Given the description of an element on the screen output the (x, y) to click on. 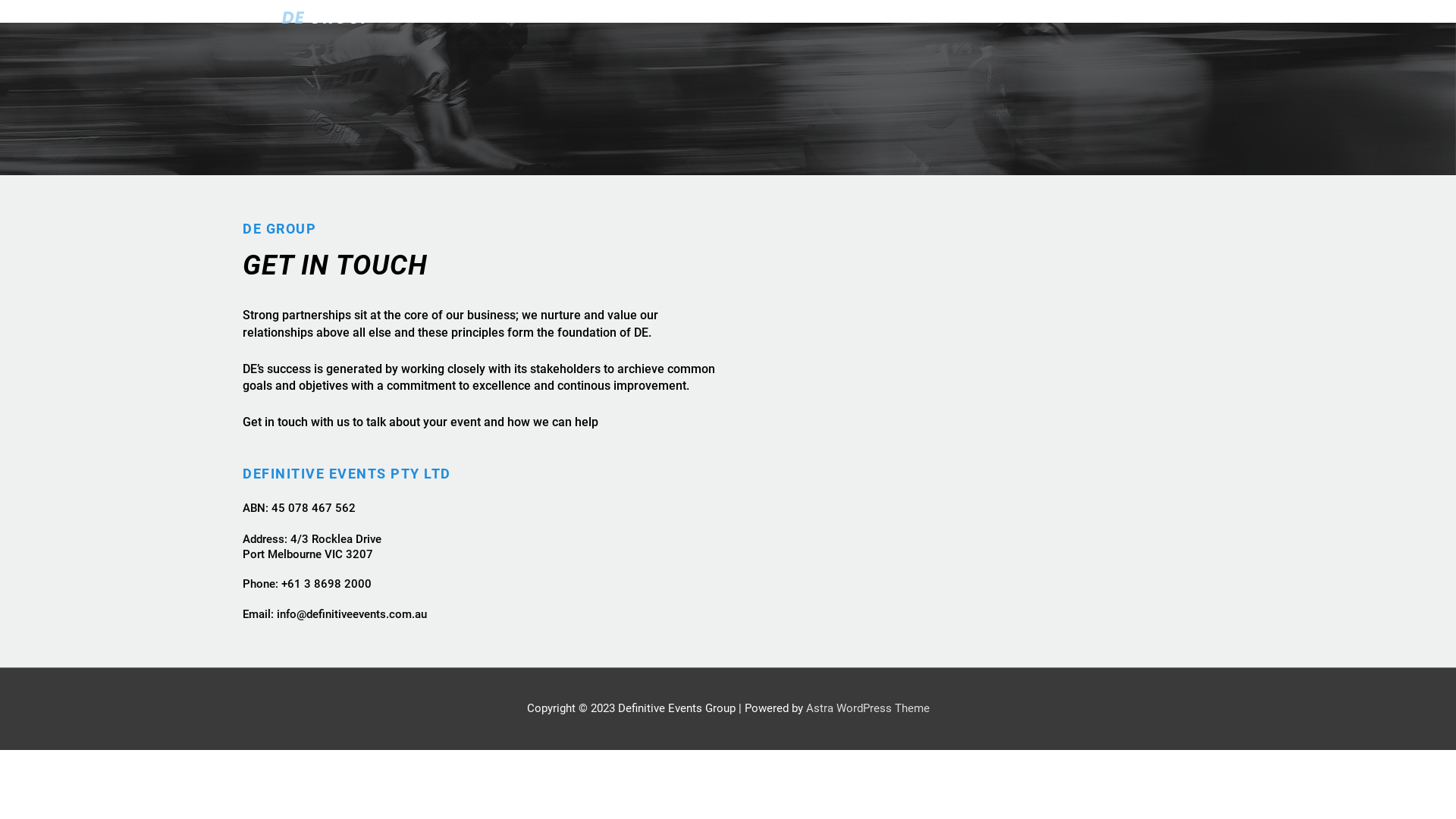
Astra WordPress Theme Element type: text (866, 708)
Phone: +61 3 8698 2000 Element type: text (485, 584)
Email: info@definitiveevents.com.au Element type: text (485, 614)
